Given the description of an element on the screen output the (x, y) to click on. 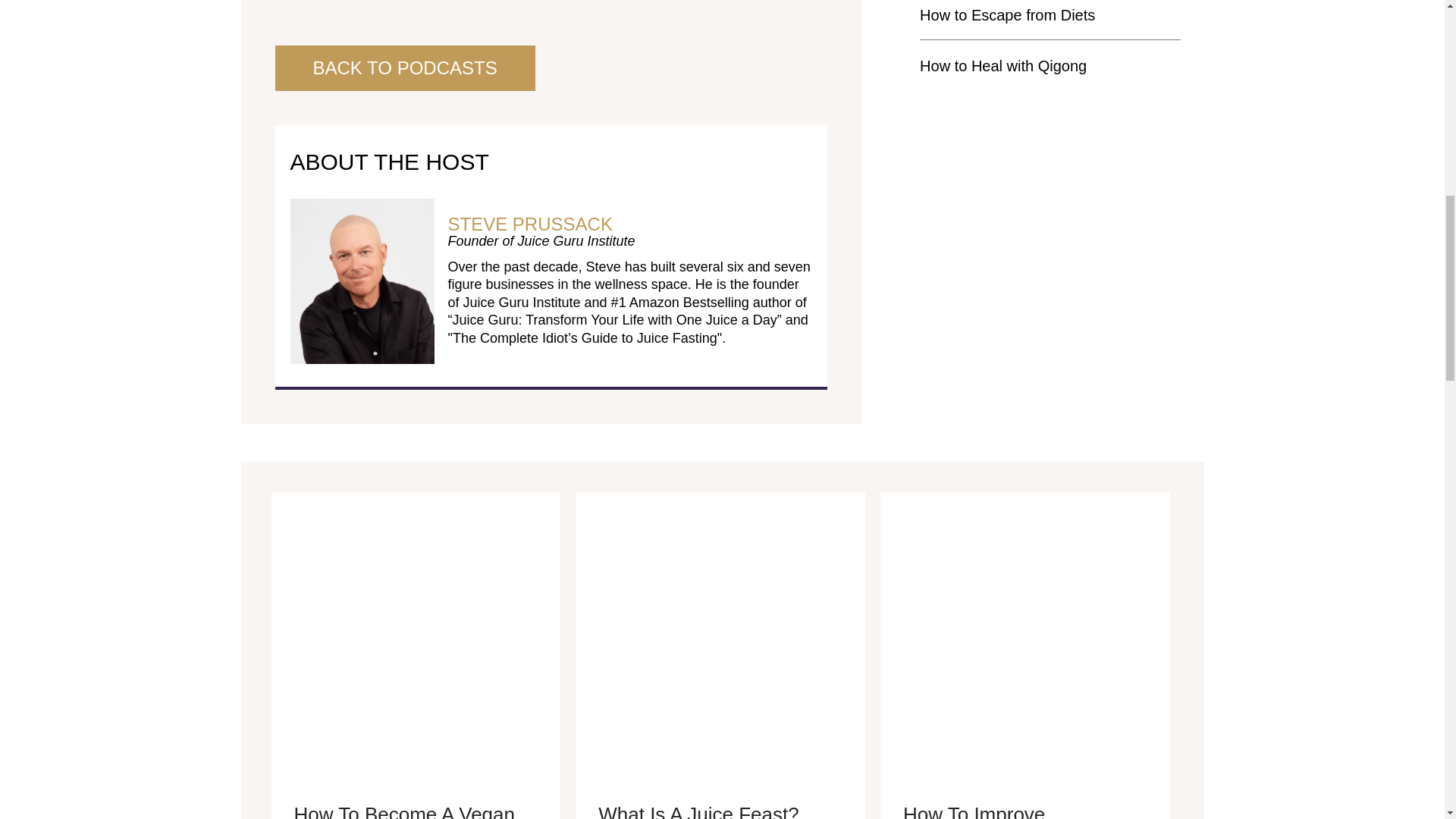
How To Become a Vegan Expert (415, 635)
What is a Juice Feast? (719, 635)
How to Escape from Diets (1007, 14)
How to Improve Productivity (1025, 635)
BACK TO PODCASTS (404, 67)
How to Heal with Qigong (1003, 65)
How To Become A Vegan Expert (404, 811)
